Given the description of an element on the screen output the (x, y) to click on. 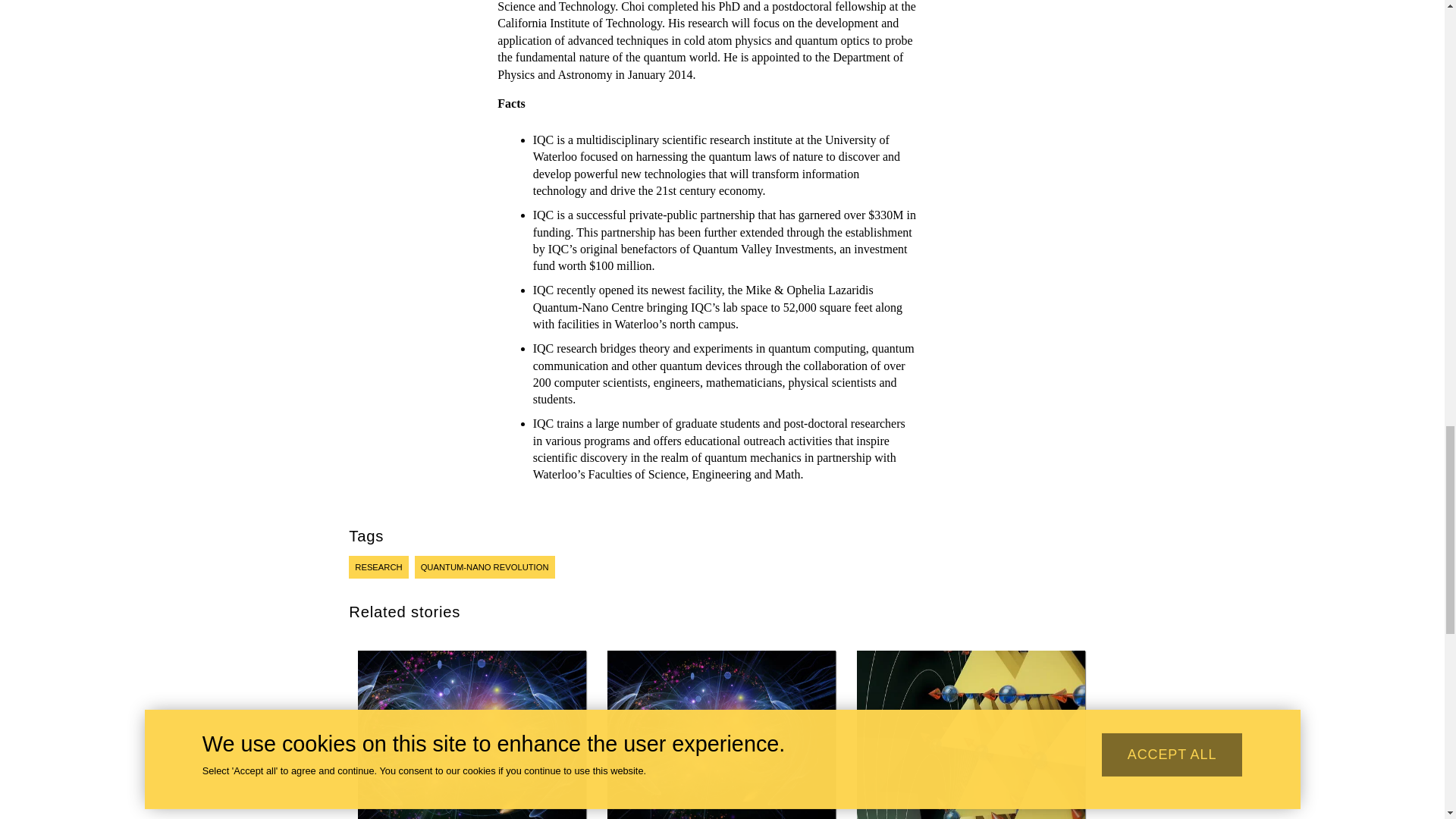
RESEARCH (378, 567)
QUANTUM-NANO REVOLUTION (484, 567)
